Given the description of an element on the screen output the (x, y) to click on. 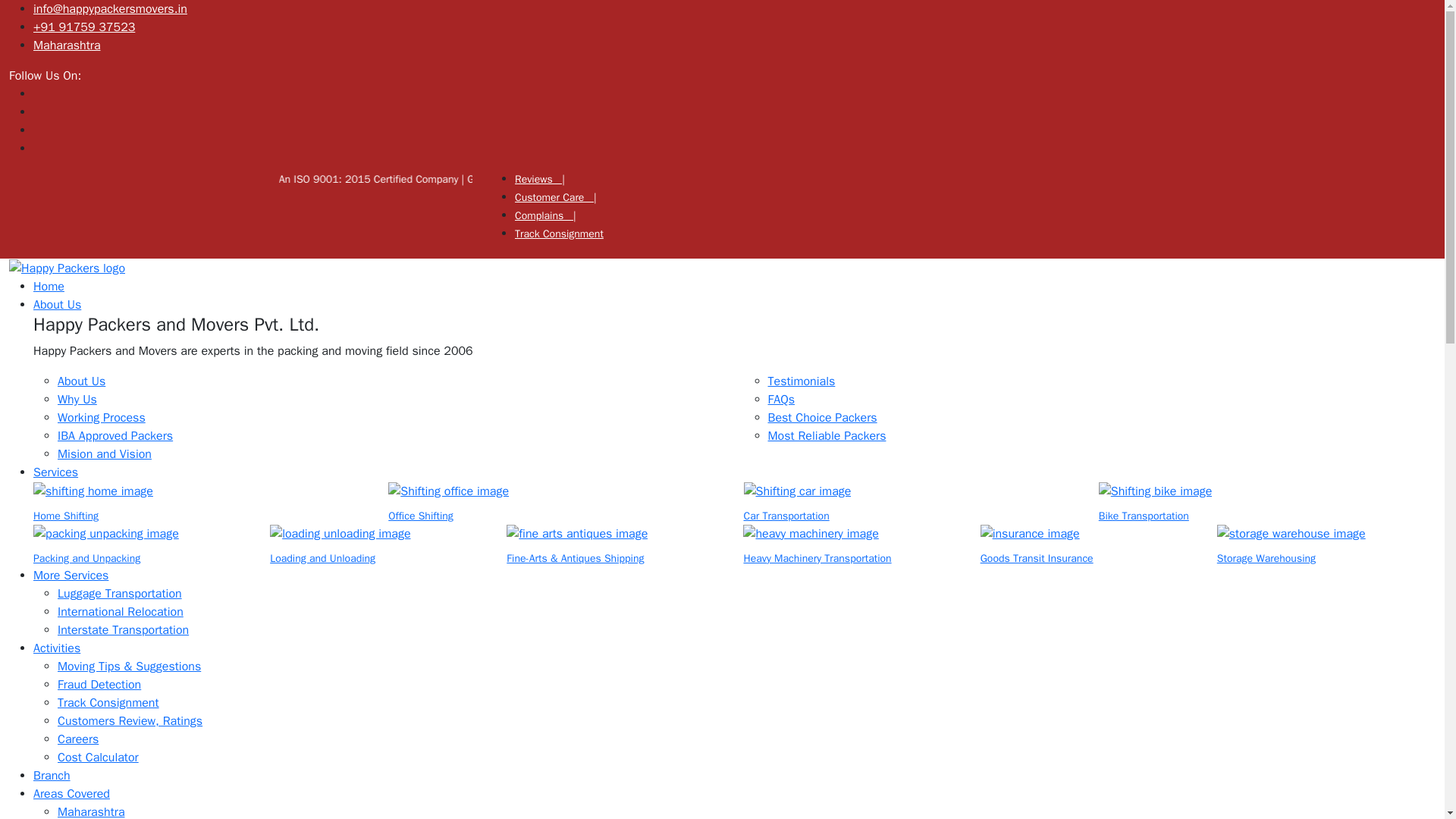
Home (48, 286)
Loading and Unloading (322, 558)
IBA Approved Packers (115, 435)
Most Reliable Packers (826, 435)
Mision and Vision (104, 453)
About Us (81, 381)
Home Shifting (66, 515)
FAQs (780, 399)
Why Us (77, 399)
Working Process (101, 417)
